Given the description of an element on the screen output the (x, y) to click on. 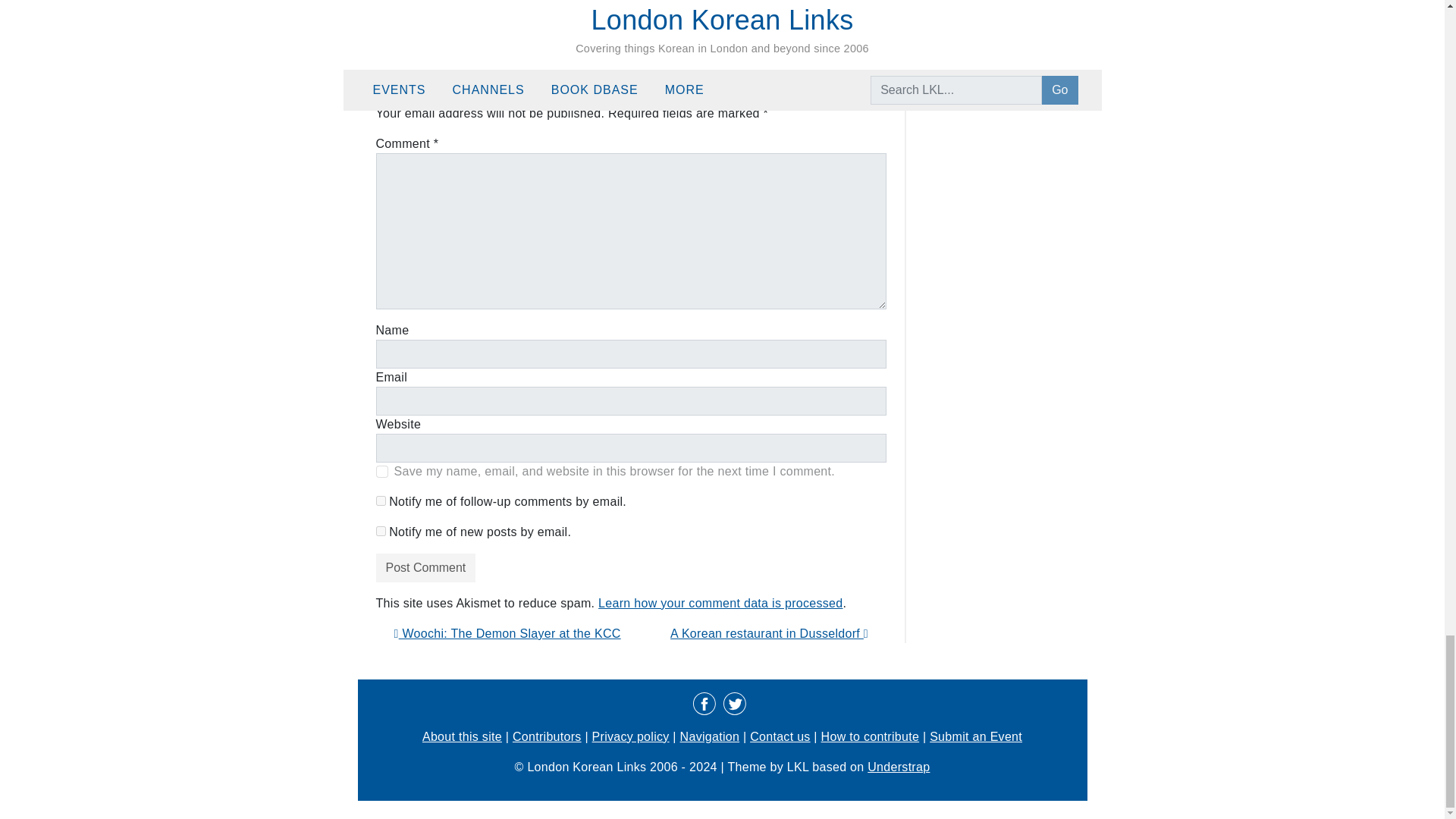
Post Comment (425, 567)
subscribe (380, 501)
subscribe (380, 531)
yes (381, 471)
